Given the description of an element on the screen output the (x, y) to click on. 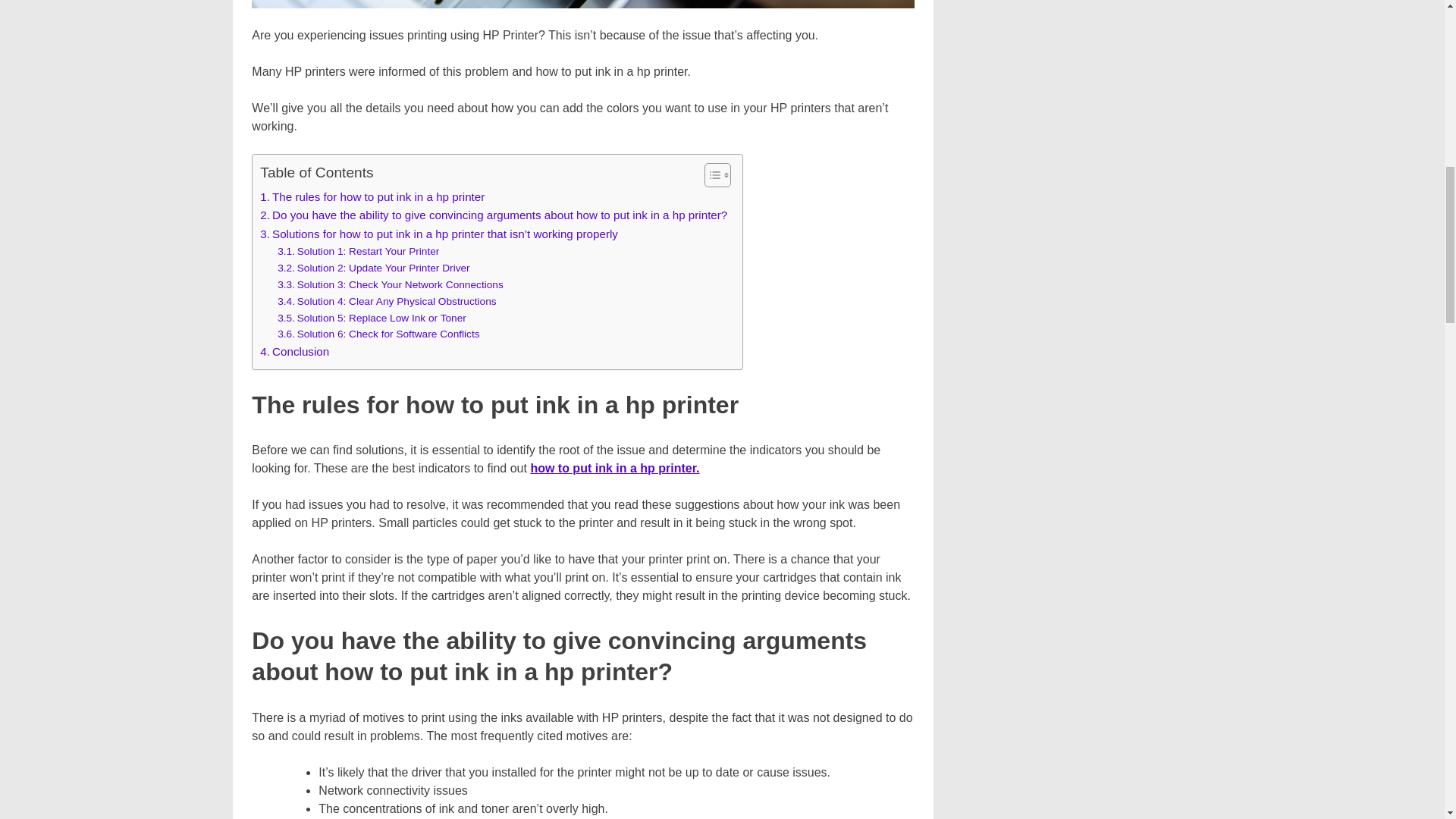
Solution 6: Check for Software Conflicts (378, 334)
Solution 4: Clear Any Physical Obstructions (387, 301)
Solution 2: Update Your Printer Driver (374, 268)
Solution 5: Replace Low Ink or Toner (371, 318)
Solution 6: Check for Software Conflicts (378, 334)
Solution 5: Replace Low Ink or Toner (371, 318)
Conclusion (294, 352)
Conclusion (294, 352)
Solution 3: Check Your Network Connections (390, 284)
Solution 1: Restart Your Printer (358, 251)
The rules for how to put ink in a hp printer (372, 197)
how to put ink in a hp printer. (613, 468)
The rules for how to put ink in a hp printer (372, 197)
